Given the description of an element on the screen output the (x, y) to click on. 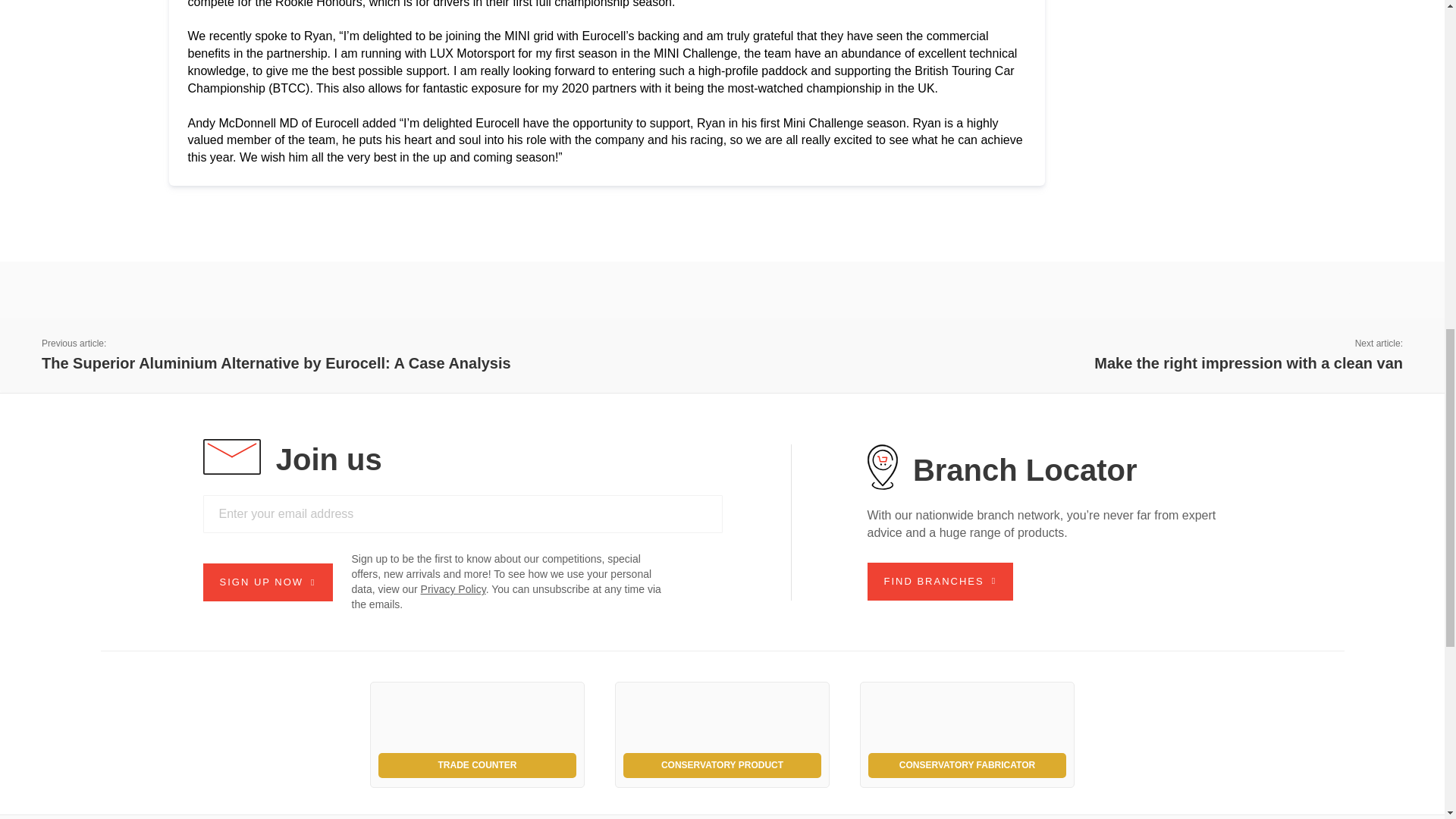
Make the right impression with a clean van (1248, 362)
LinkedIn (1350, 277)
Sign up now (268, 582)
Facebook (1305, 277)
Whatsapp (1395, 277)
